Given the description of an element on the screen output the (x, y) to click on. 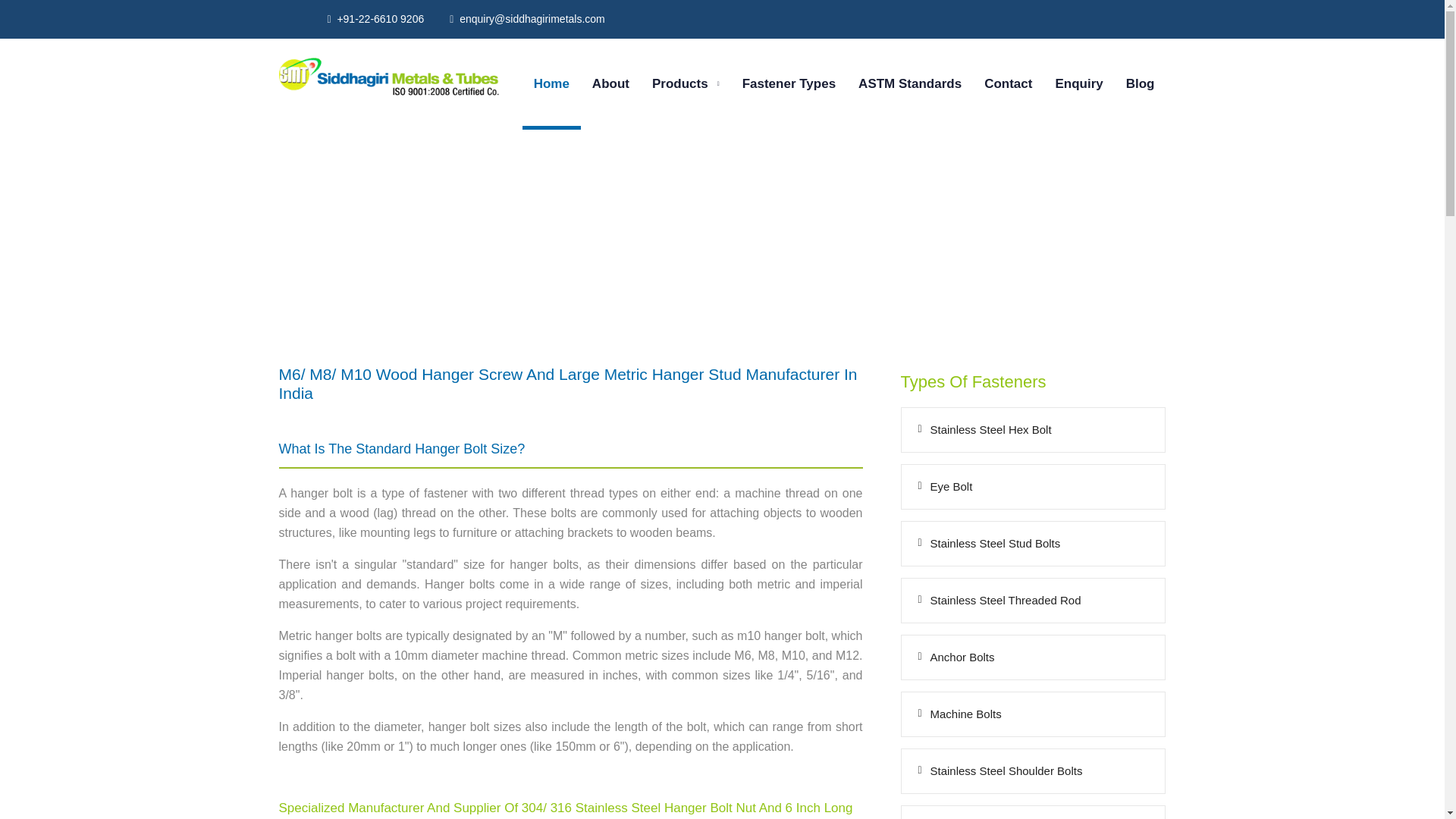
Home (551, 83)
Products (685, 83)
Machine Bolts (1032, 714)
Blog (1139, 83)
About (610, 83)
Eye Bolt (1032, 486)
Stainless Steel Shoulder Bolts (1032, 771)
Double End Bolt (1032, 812)
Stainless Steel Hex Bolt (1032, 429)
email (532, 19)
